Given the description of an element on the screen output the (x, y) to click on. 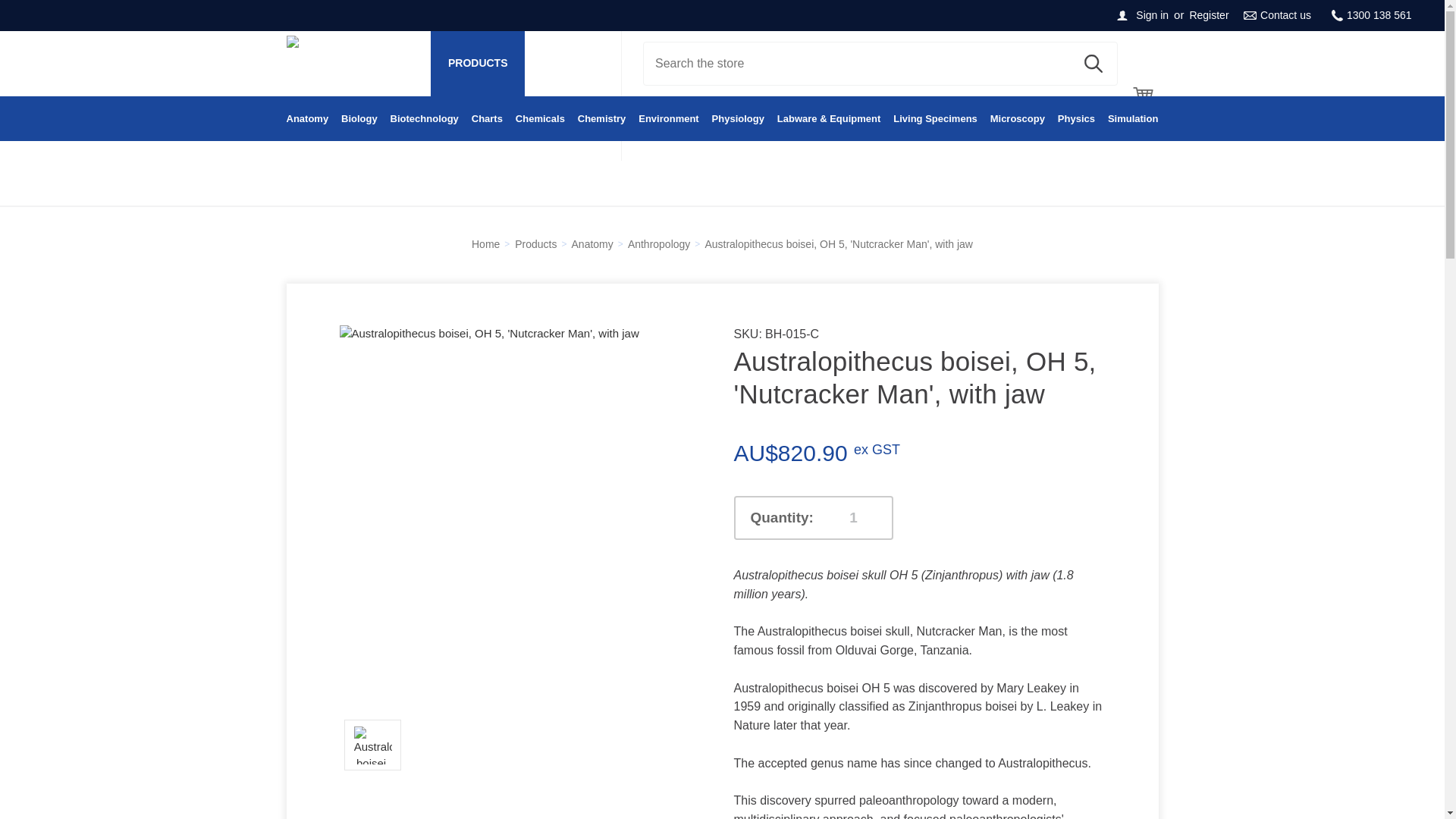
Contact us (1276, 15)
Register (1208, 15)
1 (853, 517)
Biology (358, 118)
Anatomy (307, 118)
PRODUCTS (477, 63)
Australopithecus boisei, OH 5, 'Nutcracker Man', with jaw (372, 745)
southern biological logo (350, 64)
Sign in (1151, 15)
